Given the description of an element on the screen output the (x, y) to click on. 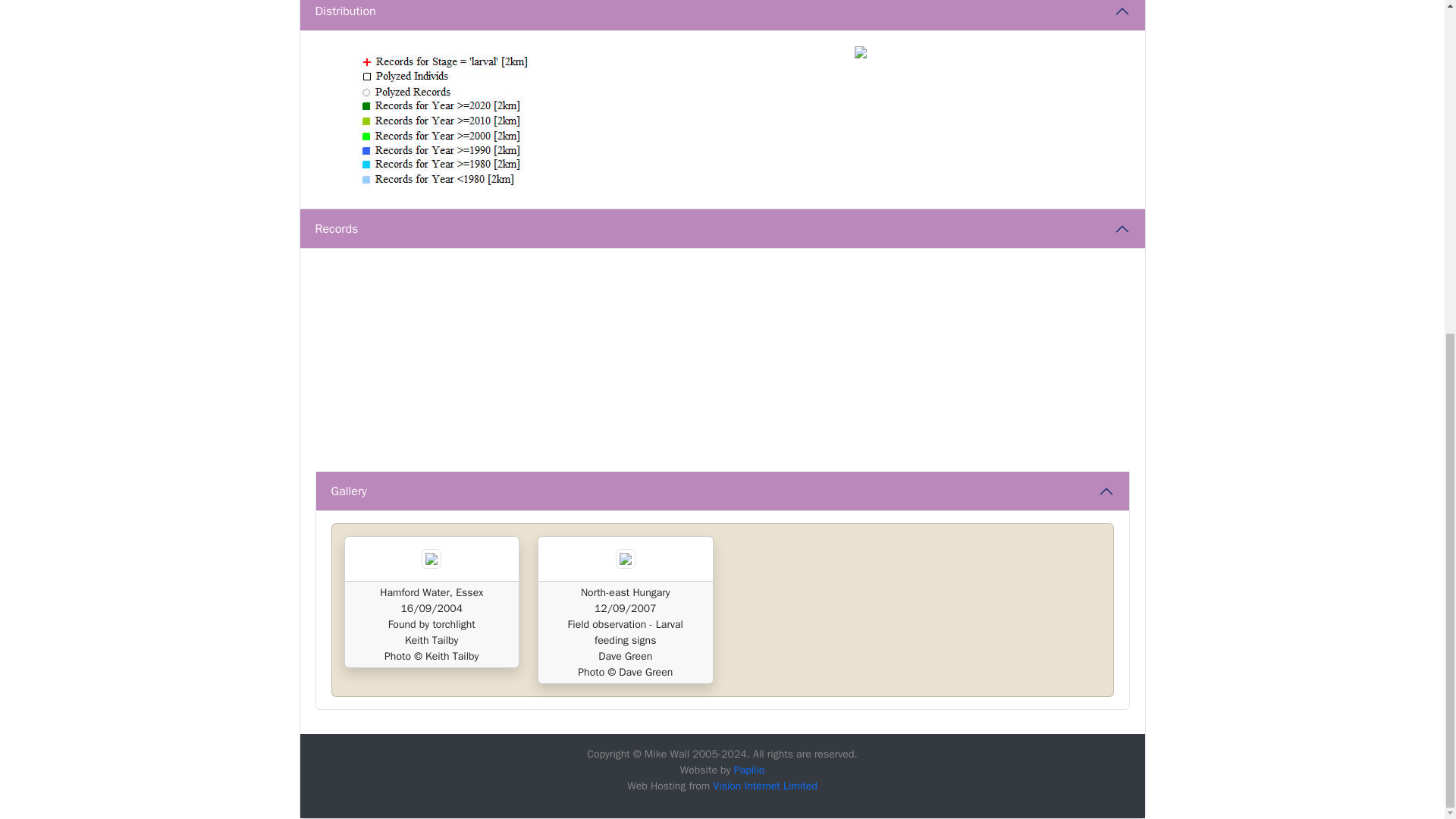
Papilio (749, 769)
Records (721, 228)
Gallery (721, 491)
Vision Internet Limited (764, 785)
Distribution (721, 15)
